Given the description of an element on the screen output the (x, y) to click on. 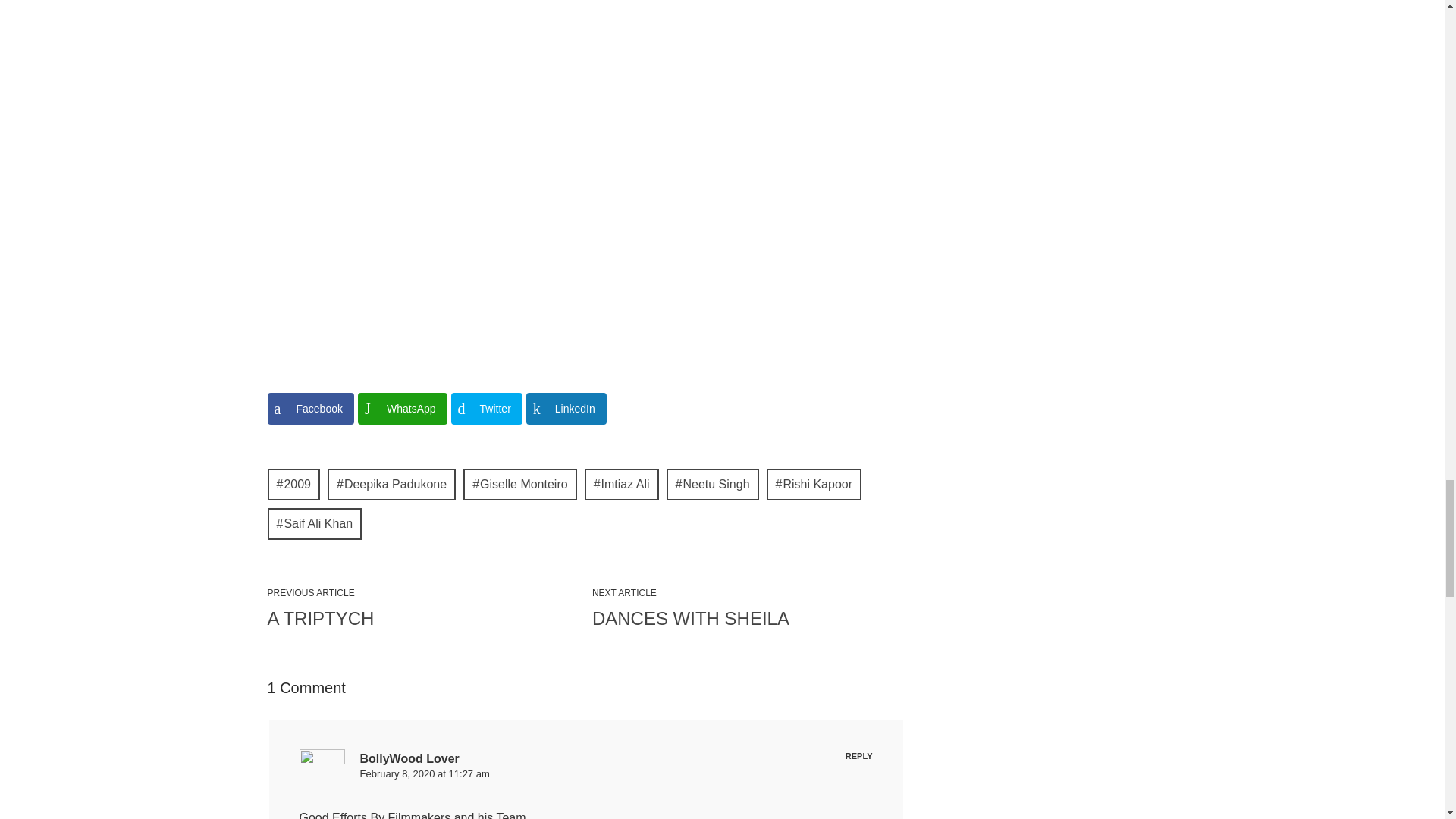
Share on LinkedIn (566, 409)
Share on WhatsApp (402, 409)
Deepika Padukone (391, 484)
Share on Twitter (486, 409)
LinkedIn (566, 409)
Twitter (486, 409)
Facebook (309, 409)
Rishi Kapoor (814, 484)
Saif Ali Khan (313, 523)
WhatsApp (402, 409)
Giselle Monteiro (519, 484)
2009 (293, 484)
Neetu Singh (712, 484)
Imtiaz Ali (622, 484)
Share on Facebook (309, 409)
